Given the description of an element on the screen output the (x, y) to click on. 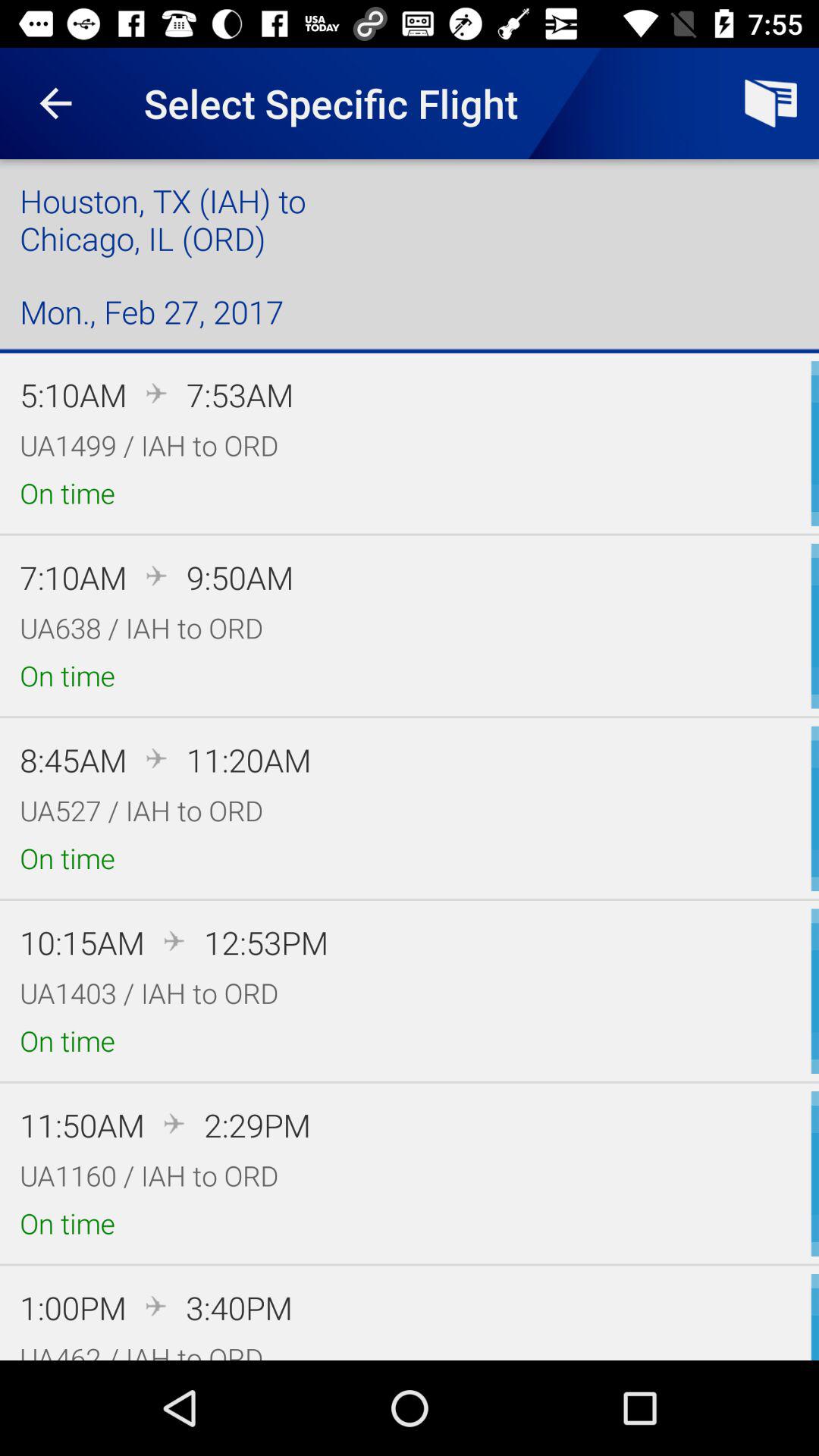
turn off the icon next to select specific flight item (771, 103)
